Given the description of an element on the screen output the (x, y) to click on. 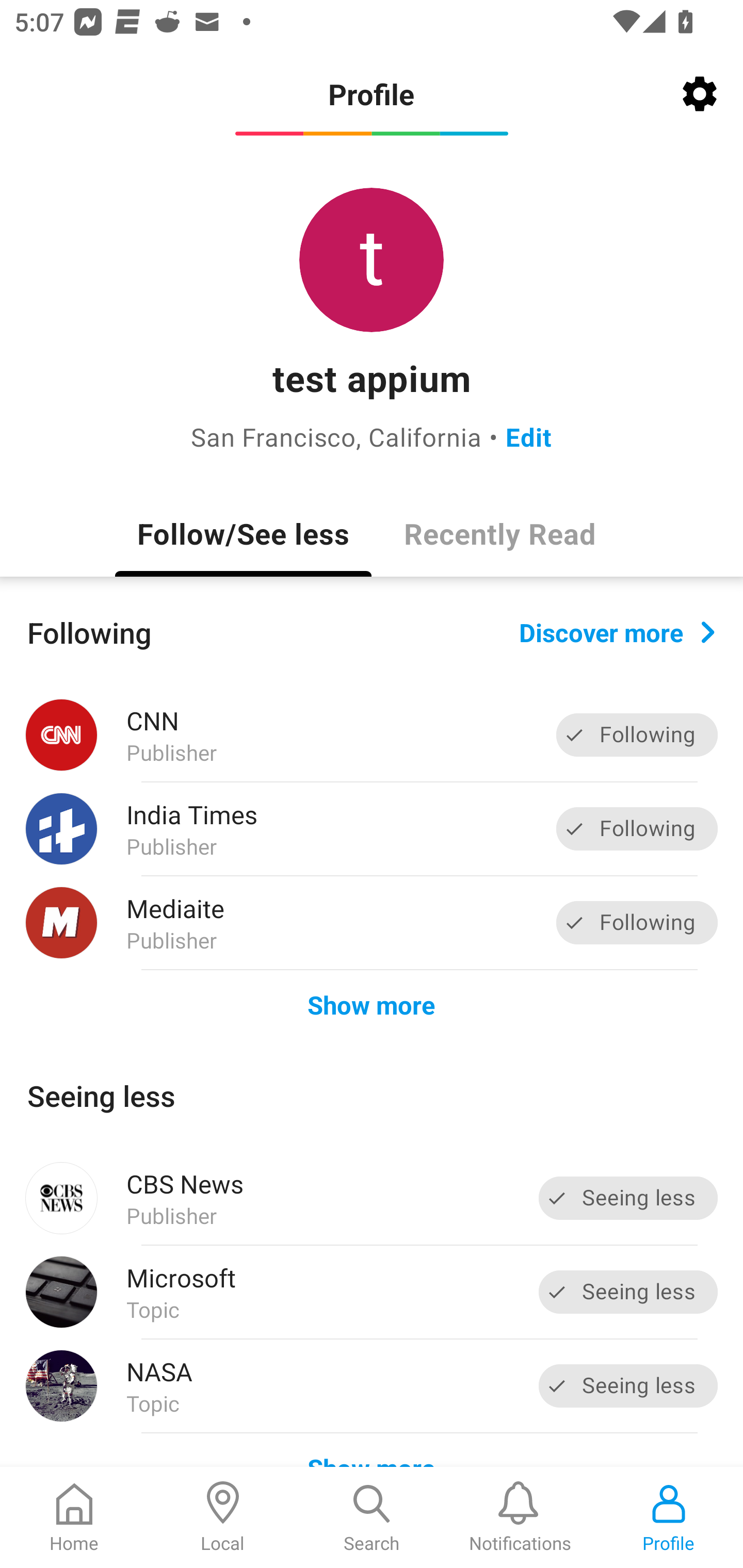
Settings (699, 93)
Edit (528, 436)
Recently Read (499, 533)
Discover more (617, 631)
CNN Publisher Following (371, 735)
Following (636, 735)
India Times Publisher Following (371, 829)
Following (636, 828)
Mediaite Publisher Following (371, 922)
Following (636, 922)
Show more (371, 1004)
CBS News Publisher Seeing less (371, 1197)
Seeing less (627, 1197)
Microsoft Topic Seeing less (371, 1291)
Seeing less (627, 1291)
NASA Topic Seeing less (371, 1386)
Seeing less (627, 1386)
Home (74, 1517)
Local (222, 1517)
Search (371, 1517)
Notifications (519, 1517)
